Given the description of an element on the screen output the (x, y) to click on. 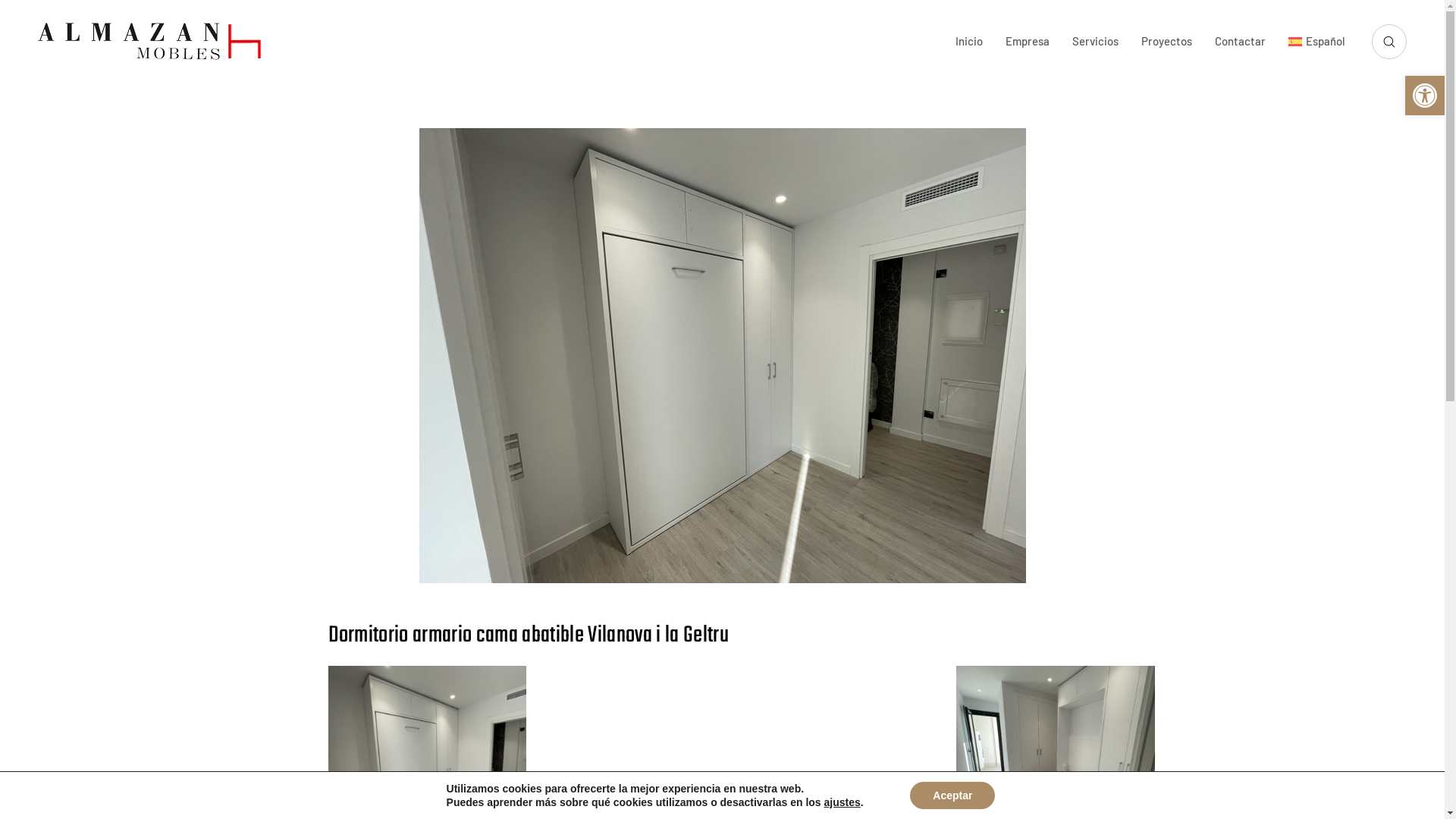
Contactar Element type: text (1240, 41)
Proyectos Element type: text (1166, 41)
Inicio Element type: text (969, 41)
Aceptar Element type: text (952, 795)
Servicios Element type: text (1094, 41)
Empresa Element type: text (1027, 41)
Abrir barra de herramientas
Herramientas de accesibilidad Element type: text (1424, 95)
